Given the description of an element on the screen output the (x, y) to click on. 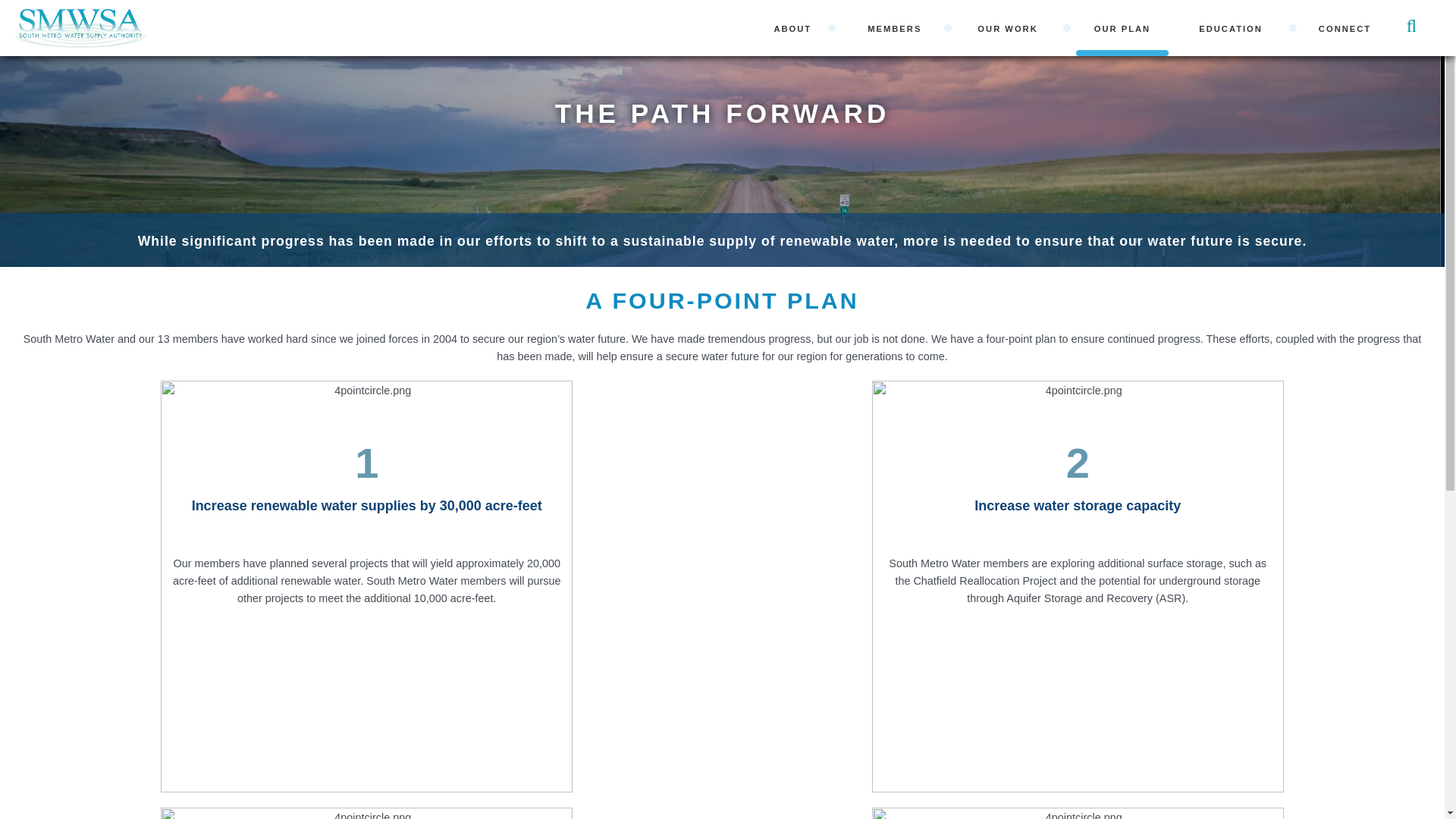
EDUCATION (1234, 28)
CONNECT (1344, 28)
OUR PLAN (1122, 28)
MEMBERS (897, 28)
ABOUT (796, 28)
OUR WORK (1010, 28)
